Given the description of an element on the screen output the (x, y) to click on. 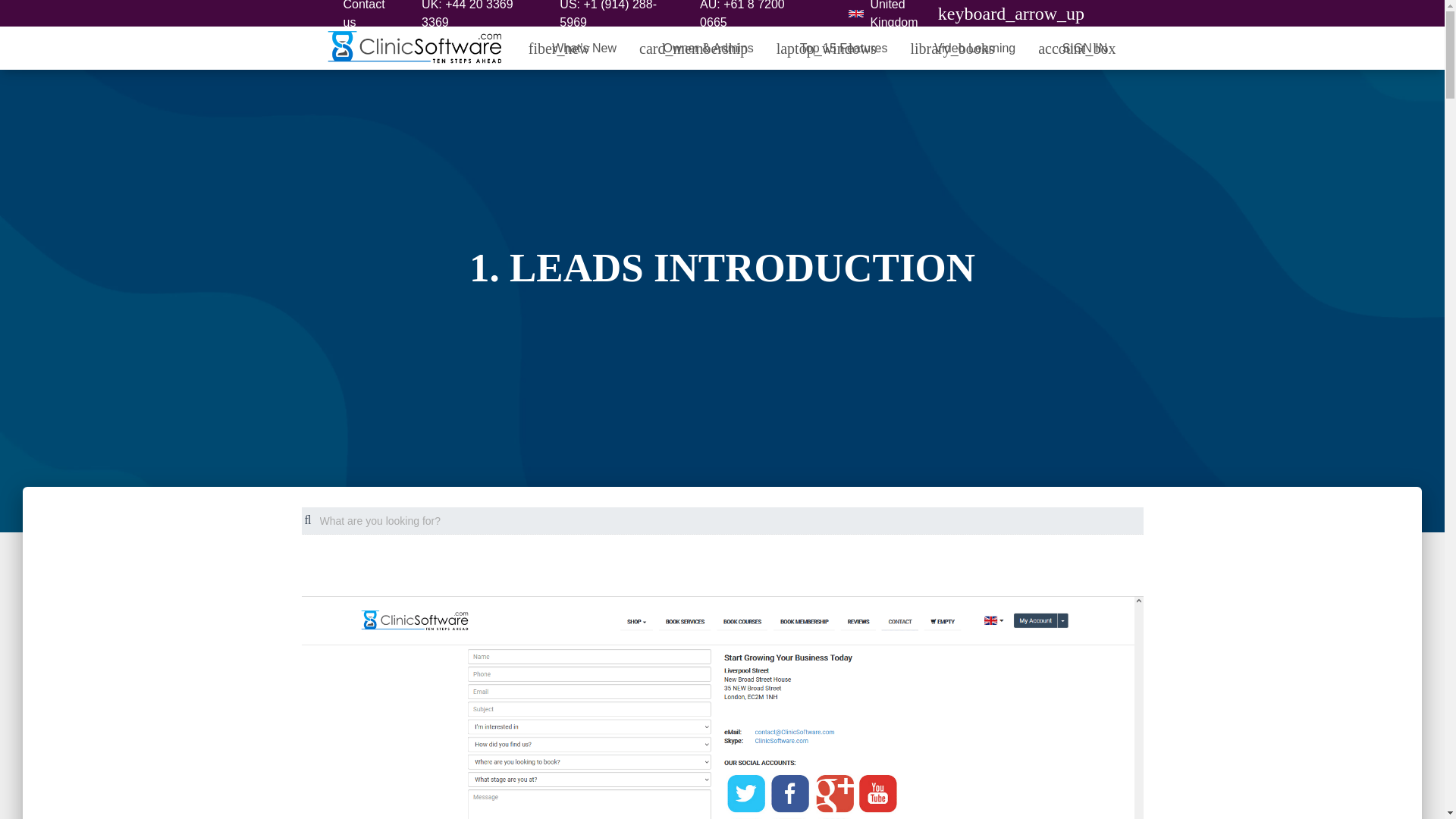
Contact us (369, 17)
